Given the description of an element on the screen output the (x, y) to click on. 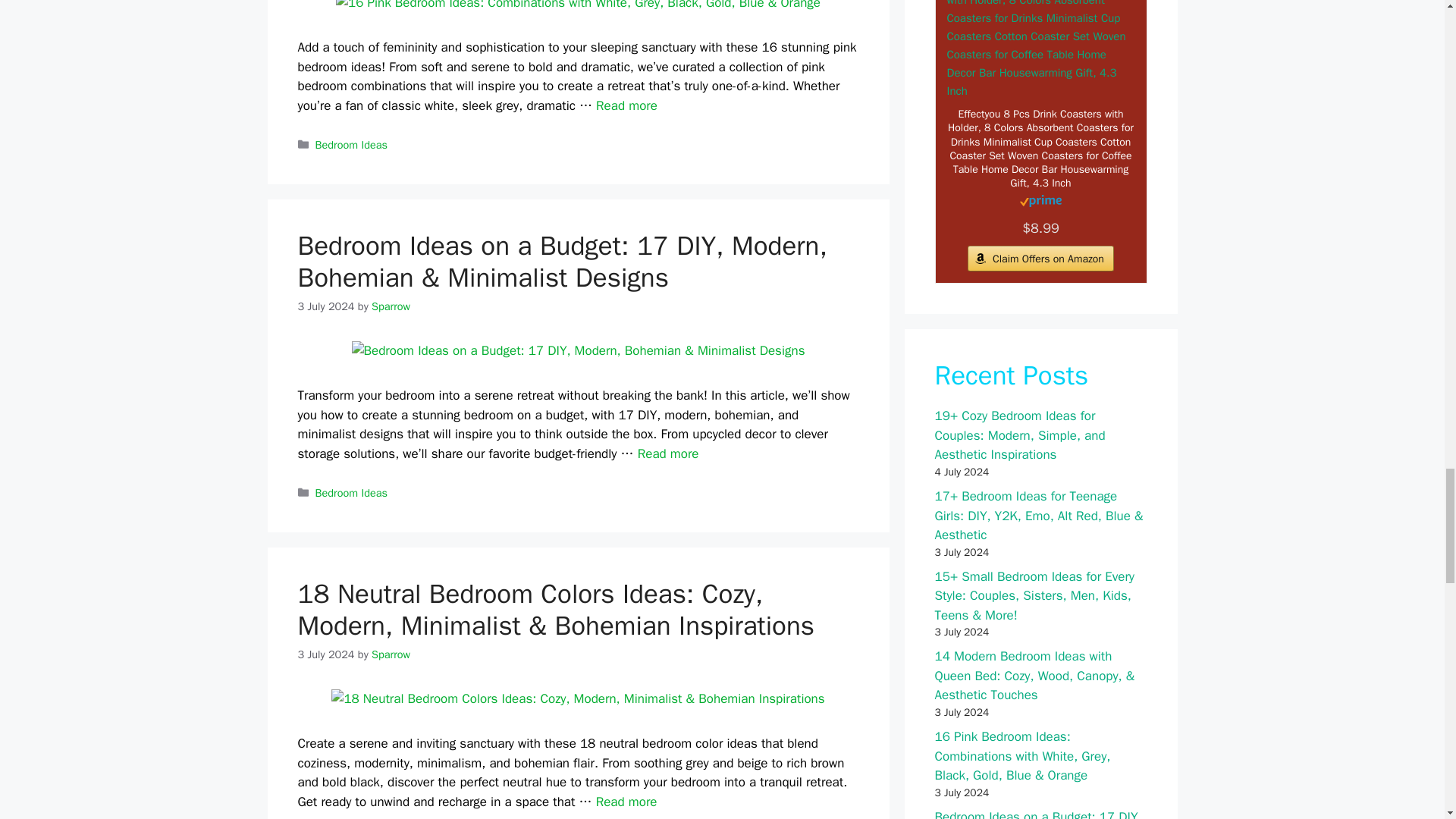
Read more (626, 105)
Bedroom Ideas (351, 144)
Read more (667, 453)
Bedroom Ideas (351, 492)
View all posts by Sparrow (390, 653)
View all posts by Sparrow (390, 305)
Sparrow (390, 305)
